Given the description of an element on the screen output the (x, y) to click on. 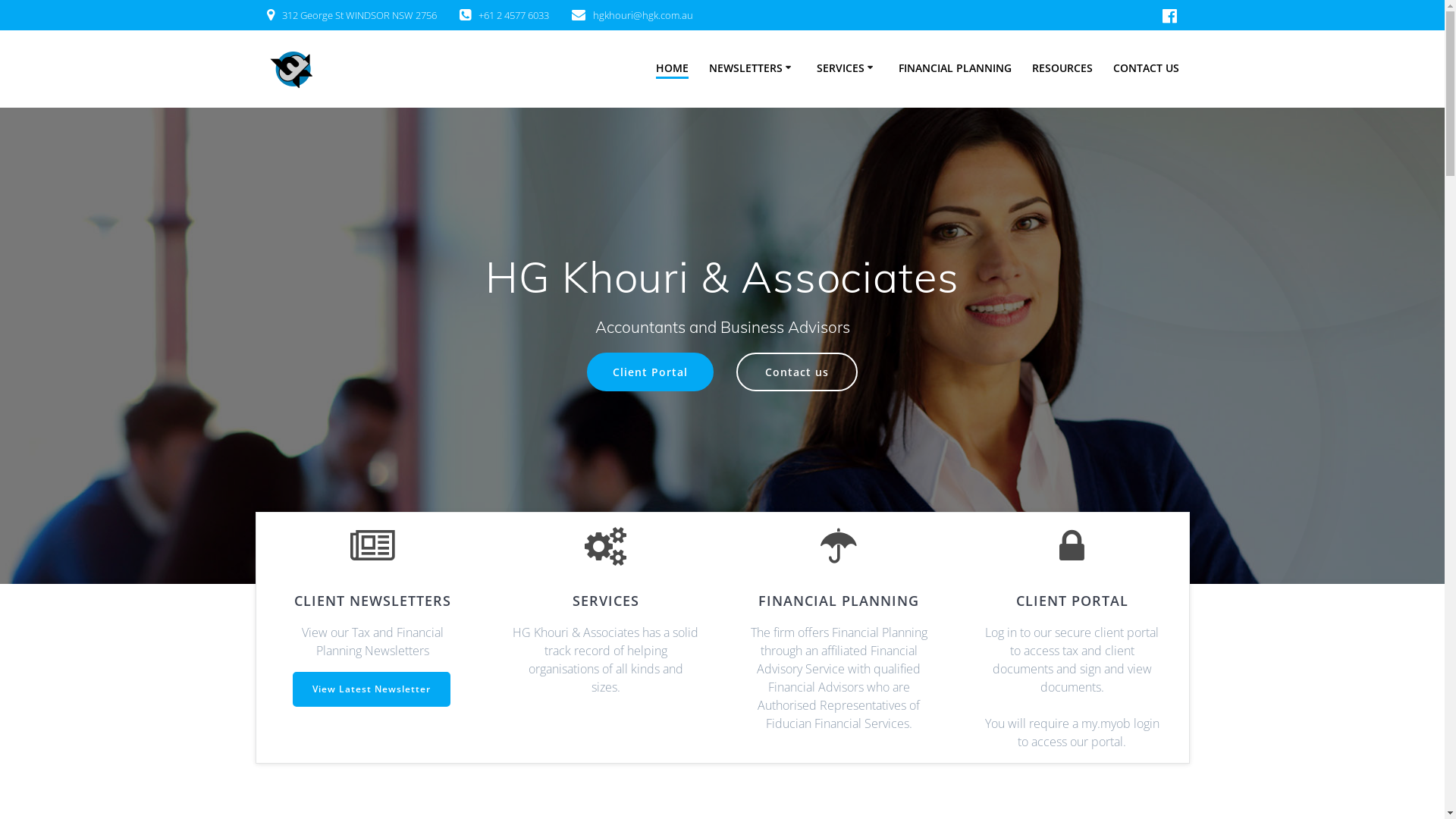
View Latest Newsletter Element type: text (371, 688)
FINANCIAL PLANNING Element type: text (954, 67)
SERVICES Element type: text (847, 67)
HOME Element type: text (671, 68)
RESOURCES Element type: text (1062, 67)
Contact us Element type: text (796, 371)
CONTACT US Element type: text (1146, 67)
NEWSLETTERS Element type: text (752, 67)
Client Portal Element type: text (649, 371)
